Given the description of an element on the screen output the (x, y) to click on. 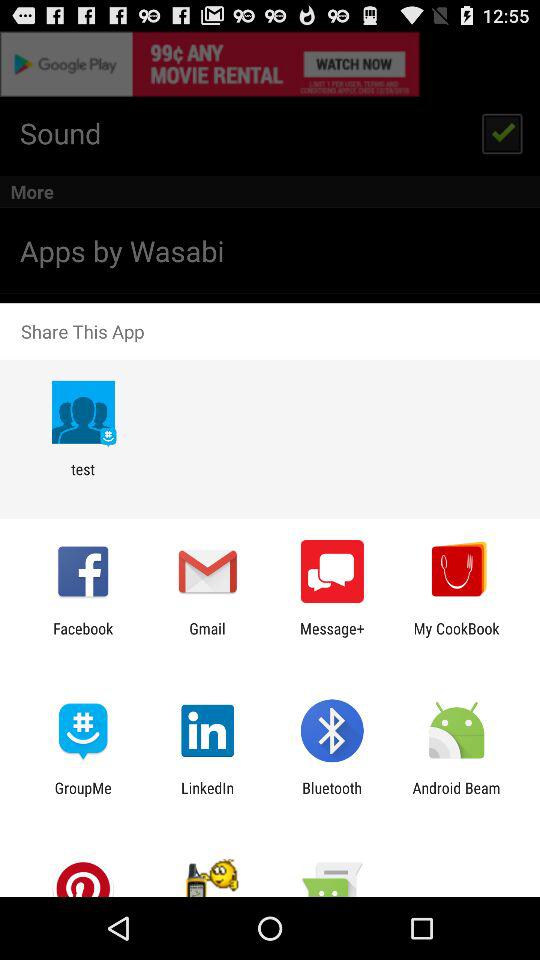
launch the item next to the bluetooth (207, 796)
